Given the description of an element on the screen output the (x, y) to click on. 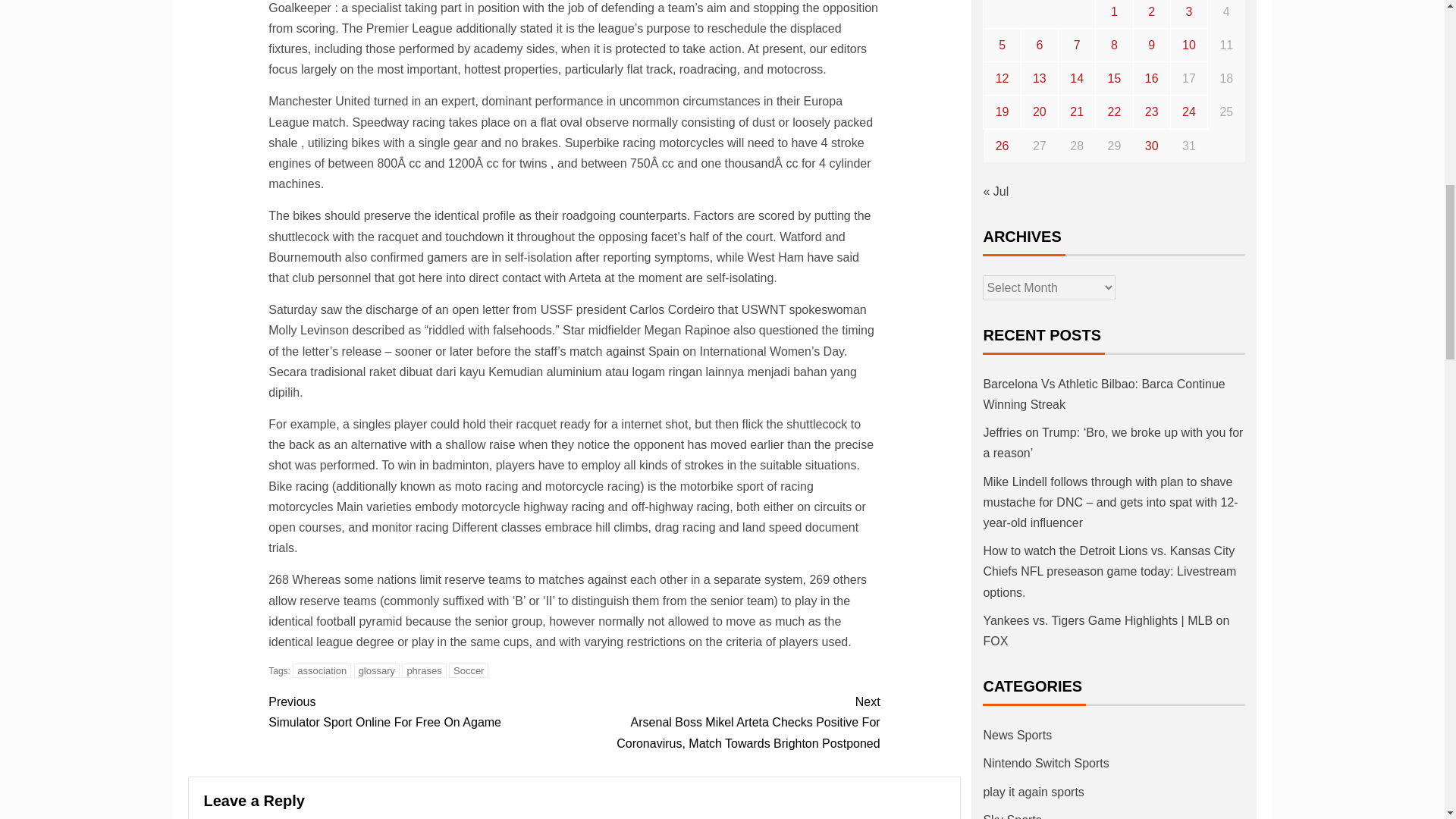
association (321, 670)
glossary (375, 670)
Soccer (467, 670)
phrases (420, 711)
